Given the description of an element on the screen output the (x, y) to click on. 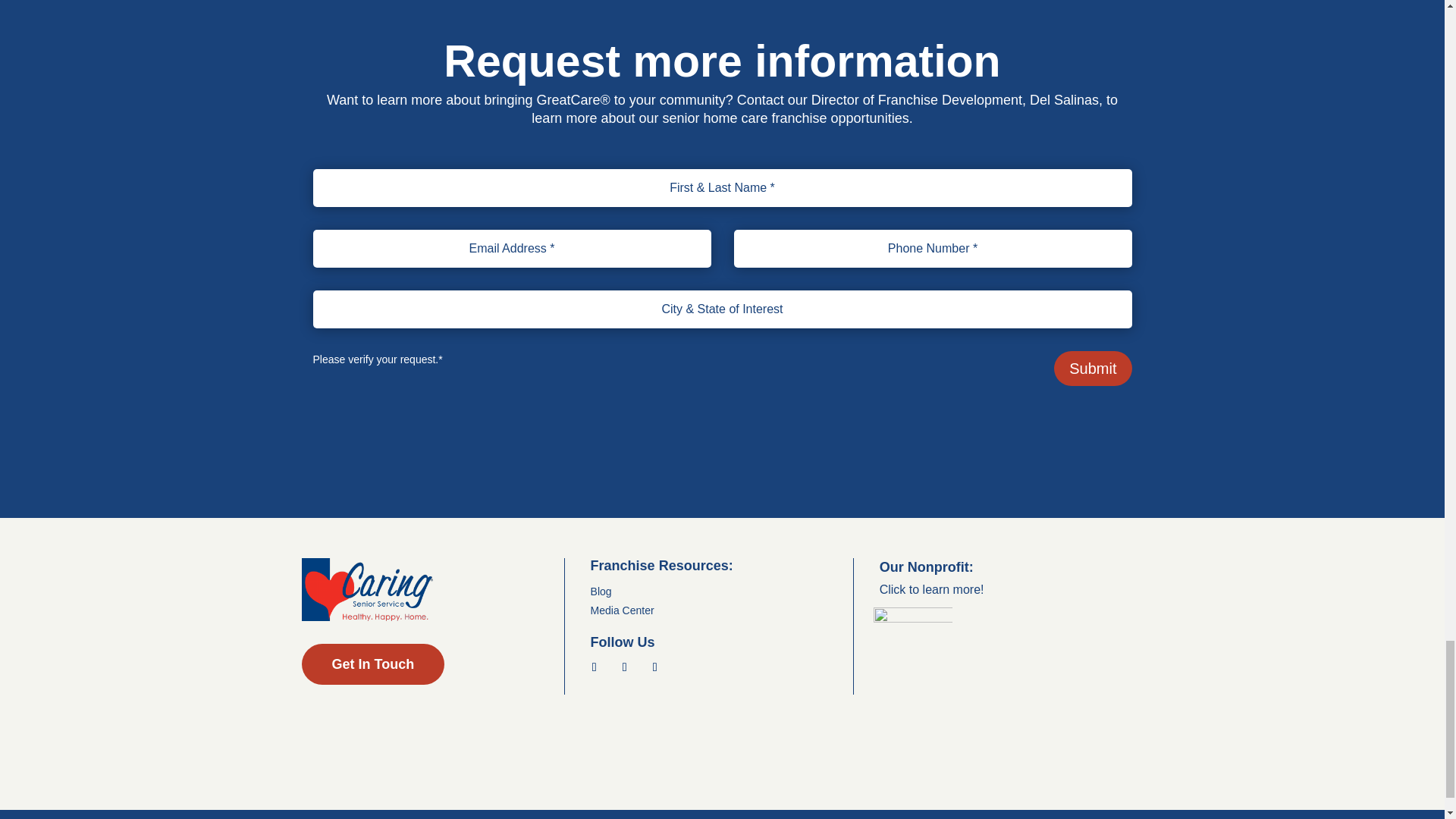
close-the-gap-image (912, 646)
Follow on X (624, 667)
Follow on Facebook (594, 667)
Follow on Youtube (654, 667)
css-logo-png (366, 588)
